Given the description of an element on the screen output the (x, y) to click on. 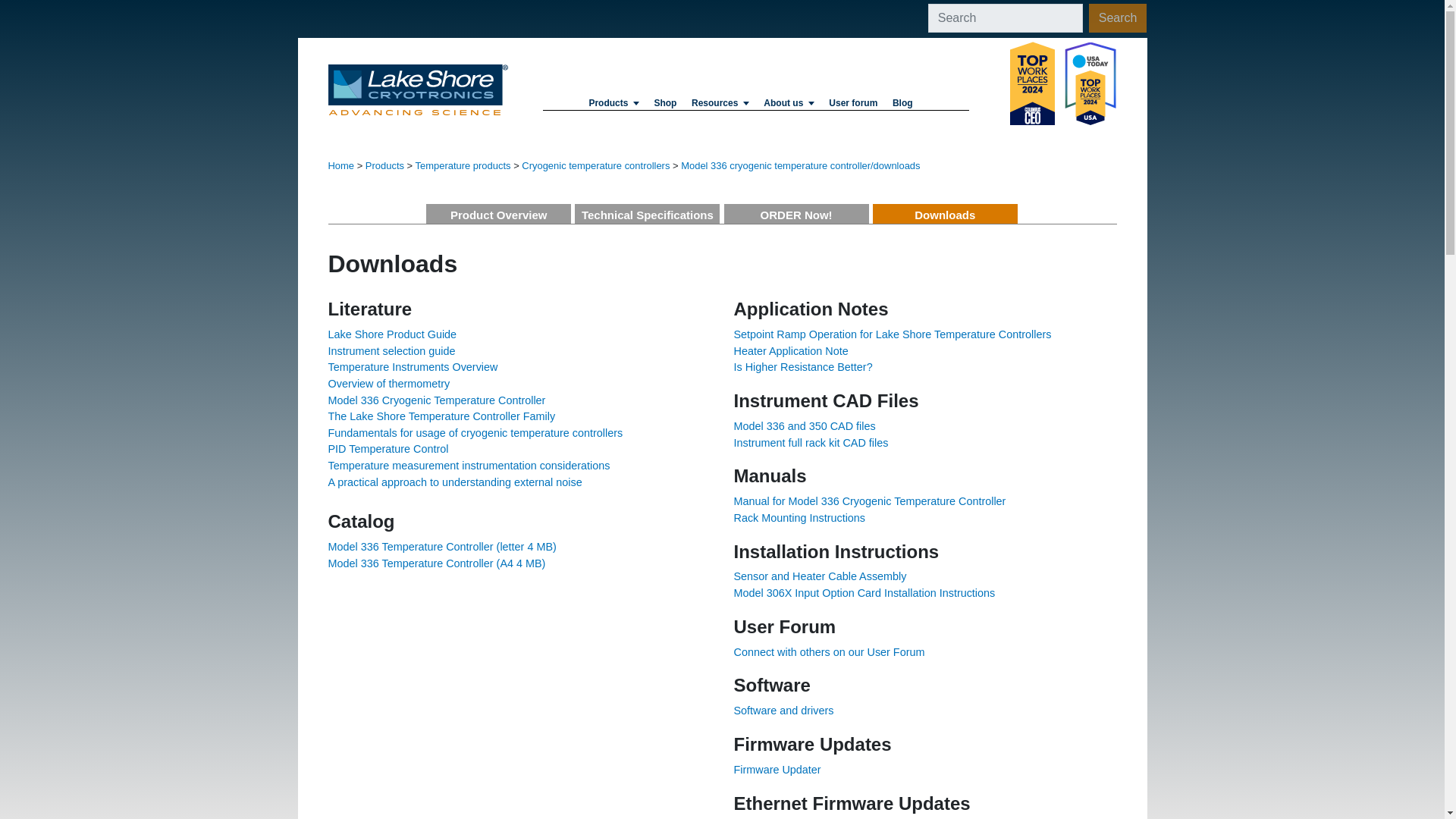
Open image in original size (1063, 83)
Lake Shore Cryotronics, Inc. (417, 89)
Search (1118, 18)
Search input (1005, 18)
Open image in original size (417, 88)
Products (614, 97)
